Given the description of an element on the screen output the (x, y) to click on. 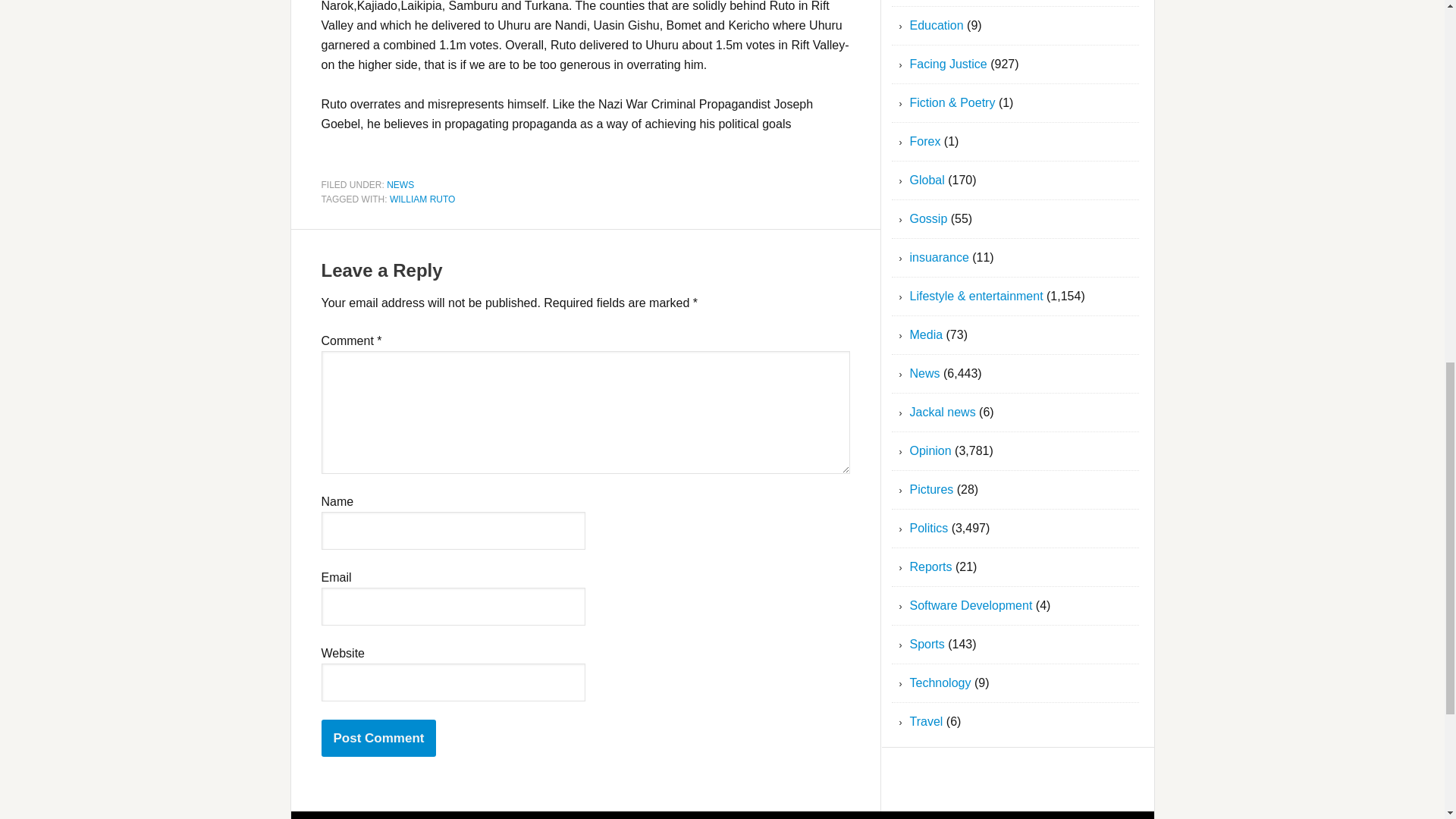
Media (926, 334)
Gossip (928, 218)
Pictures (931, 489)
News (925, 373)
Education (936, 24)
Post Comment (378, 737)
Post Comment (378, 737)
Politics (929, 527)
Opinion (931, 450)
Facing Justice (948, 63)
Jackal news (942, 411)
insuarance (939, 256)
Global (927, 179)
WILLIAM RUTO (422, 199)
Forex (925, 141)
